Given the description of an element on the screen output the (x, y) to click on. 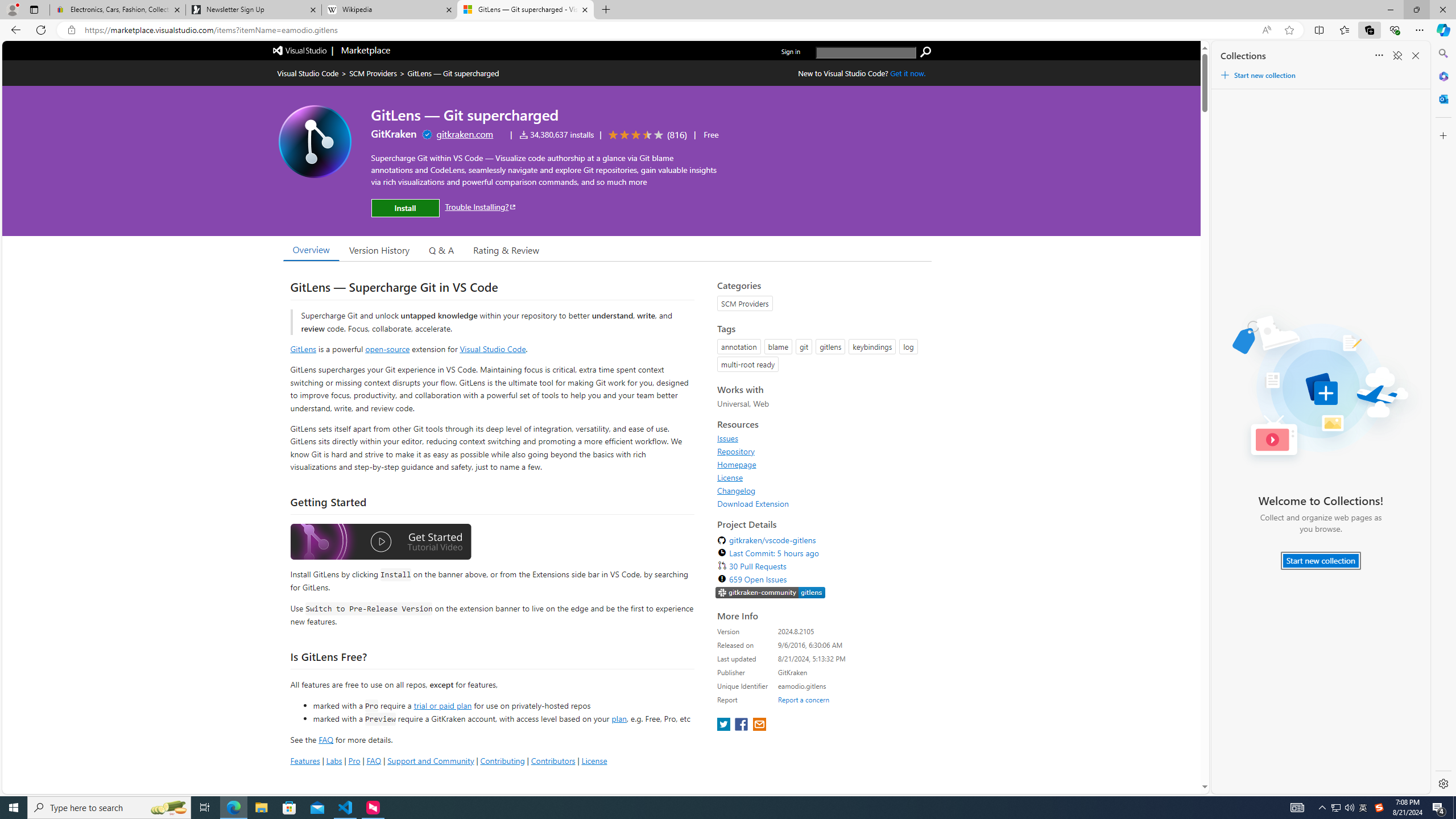
Newsletter Sign Up (253, 9)
Repository (735, 451)
search (866, 52)
https://slack.gitkraken.com// (769, 592)
